Given the description of an element on the screen output the (x, y) to click on. 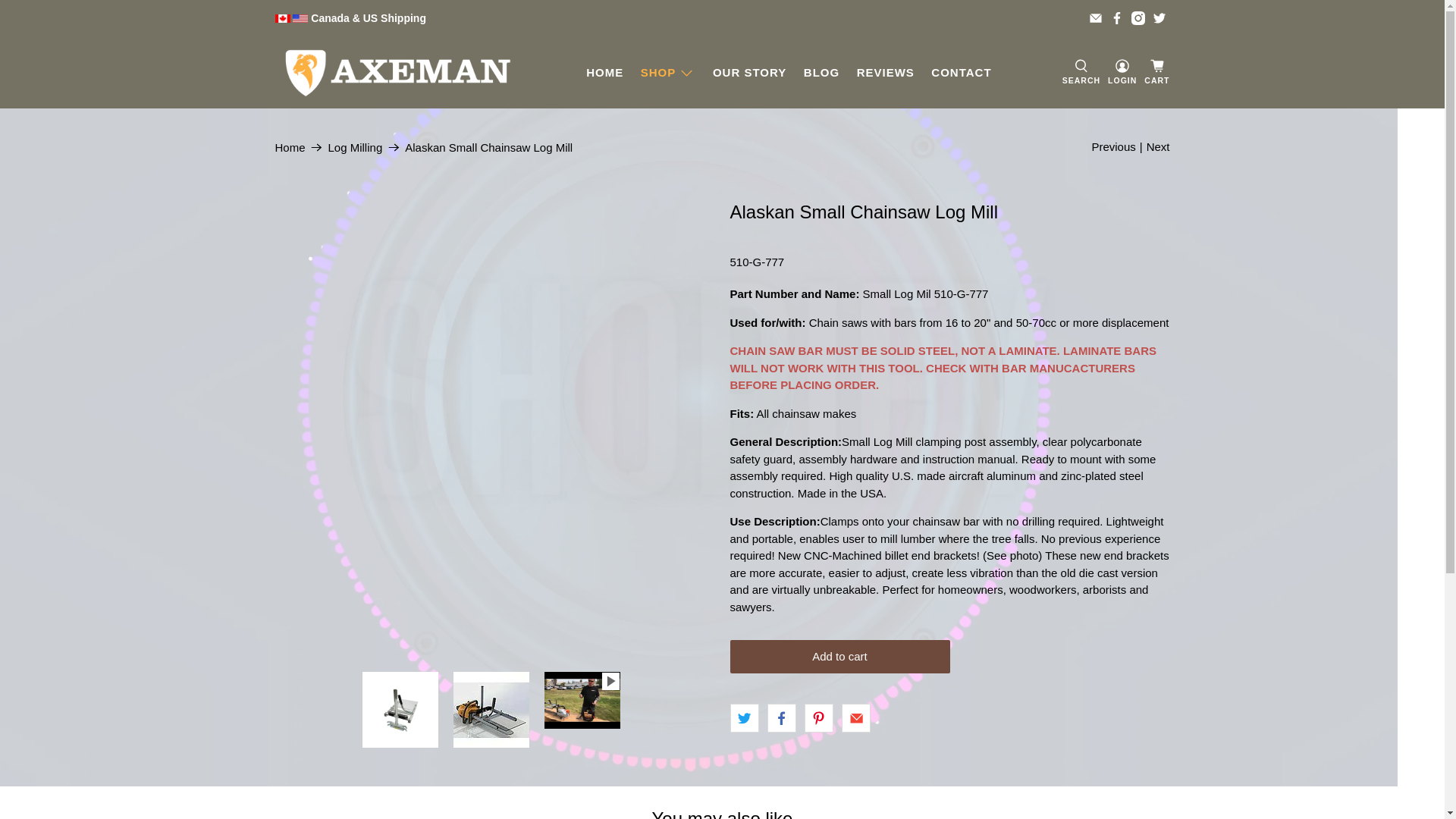
Email this to a friend Element type: hover (855, 717)
HOME Element type: text (604, 73)
Home Element type: text (289, 147)
LOGIN Element type: text (1122, 73)
Next Element type: text (1158, 147)
CONTACT Element type: text (961, 73)
Add to cart Element type: text (839, 656)
Share this on Pinterest Element type: hover (818, 717)
Axeman.ca on Twitter Element type: hover (1159, 18)
REVIEWS Element type: text (884, 73)
Log Milling Element type: text (355, 147)
SHOP Element type: text (667, 73)
CART Element type: text (1156, 73)
SEARCH Element type: text (1081, 73)
Axeman.ca Element type: hover (397, 72)
Email Axeman.ca Element type: hover (1095, 18)
Share this on Twitter Element type: hover (743, 717)
Axeman.ca on Facebook Element type: hover (1116, 18)
Axeman.ca on Instagram Element type: hover (1138, 18)
BLOG Element type: text (821, 73)
OUR STORY Element type: text (749, 73)
Previous Element type: text (1113, 147)
Share this on Facebook Element type: hover (781, 717)
